Given the description of an element on the screen output the (x, y) to click on. 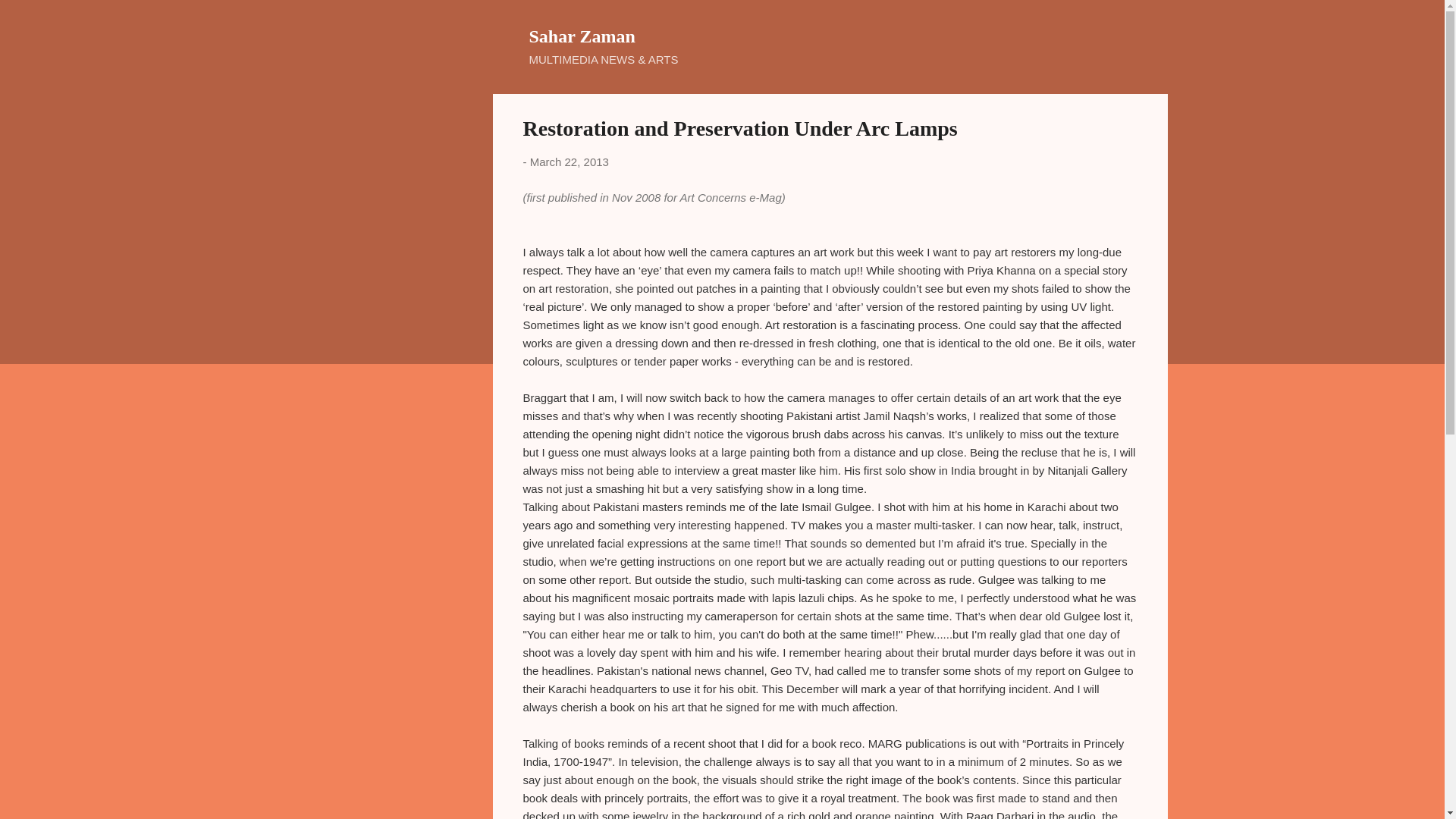
Search (29, 18)
permanent link (568, 161)
March 22, 2013 (568, 161)
Sahar Zaman (581, 35)
